Given the description of an element on the screen output the (x, y) to click on. 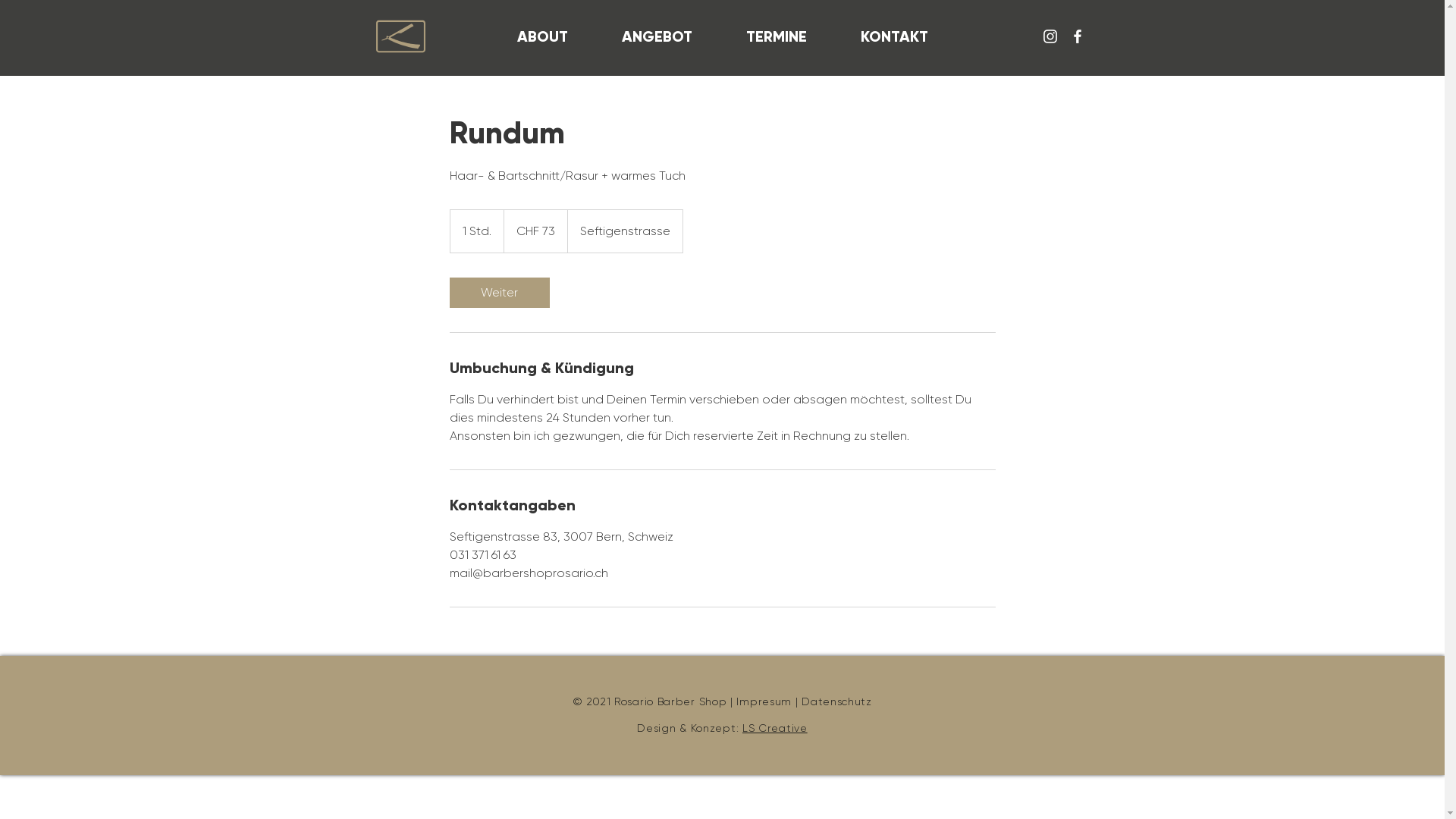
ANGEBOT Element type: text (656, 36)
LS Creative Element type: text (774, 727)
Impresum |  Element type: text (768, 701)
Weiter Element type: text (498, 292)
Datenschutz Element type: text (836, 701)
ABOUT Element type: text (542, 36)
TERMINE Element type: text (775, 36)
KONTAKT Element type: text (894, 36)
